Given the description of an element on the screen output the (x, y) to click on. 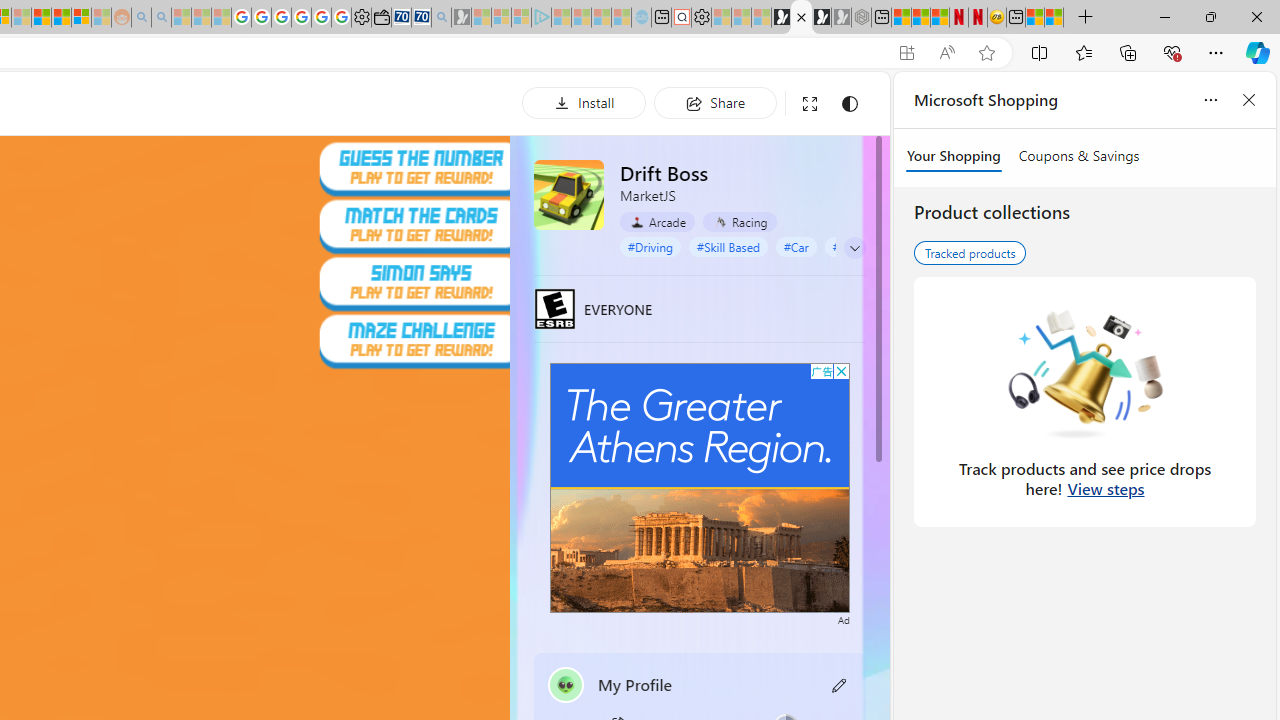
New Tab (1085, 17)
Collections (1128, 52)
Class: button edit-icon (839, 684)
Settings (701, 17)
Advertisement (699, 487)
Restore (1210, 16)
Arcade (657, 221)
Home | Sky Blue Bikes - Sky Blue Bikes - Sleeping (641, 17)
Wallet (381, 17)
Share (715, 102)
